Given the description of an element on the screen output the (x, y) to click on. 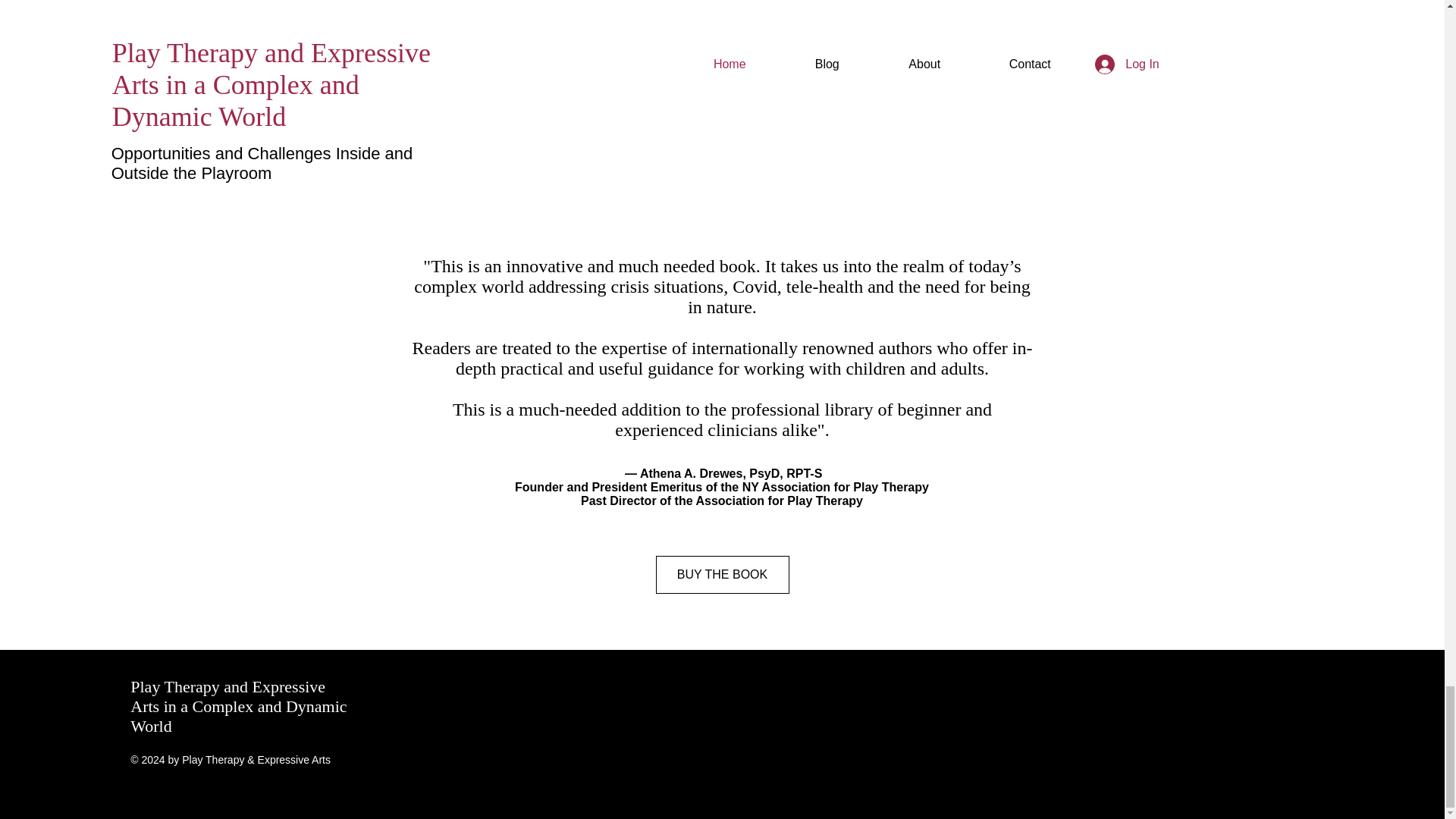
Read More (722, 195)
BUY THE BOOK (722, 574)
